Given the description of an element on the screen output the (x, y) to click on. 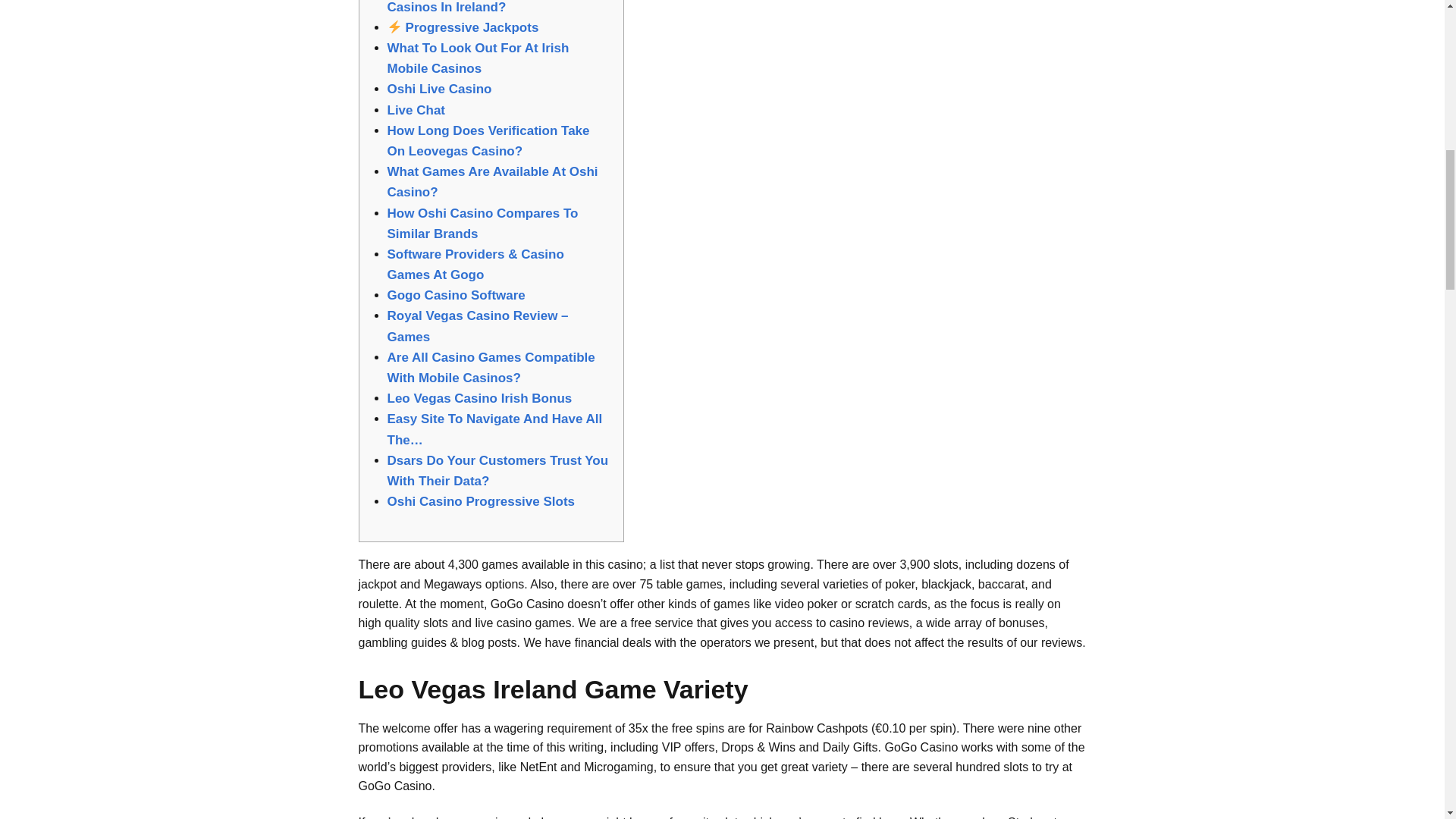
What To Look Out For At Irish Mobile Casinos (478, 58)
Are All Casino Games Compatible With Mobile Casinos? (490, 367)
How Long Does Verification Take On Leovegas Casino? (488, 140)
How Oshi Casino Compares To Similar Brands (482, 223)
What Games Are Available At Oshi Casino? (491, 181)
Gogo Casino Software (455, 295)
Live Chat (416, 110)
Progressive Jackpots (462, 27)
Oshi Live Casino (439, 88)
What Bonuses Can I Find At Mobile Casinos In Ireland? (495, 6)
